Given the description of an element on the screen output the (x, y) to click on. 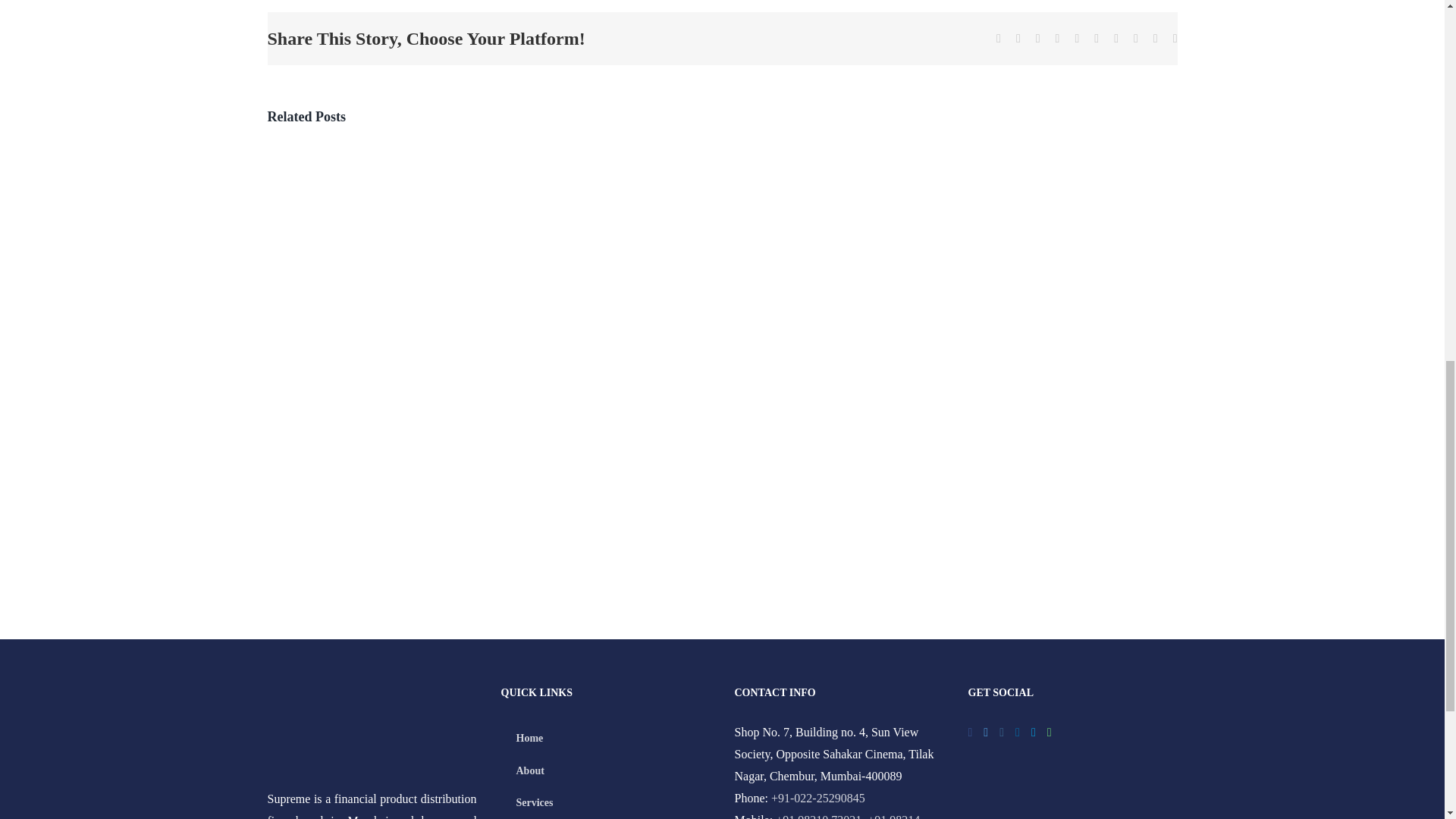
About (604, 771)
Home (604, 738)
Services (604, 803)
